Given the description of an element on the screen output the (x, y) to click on. 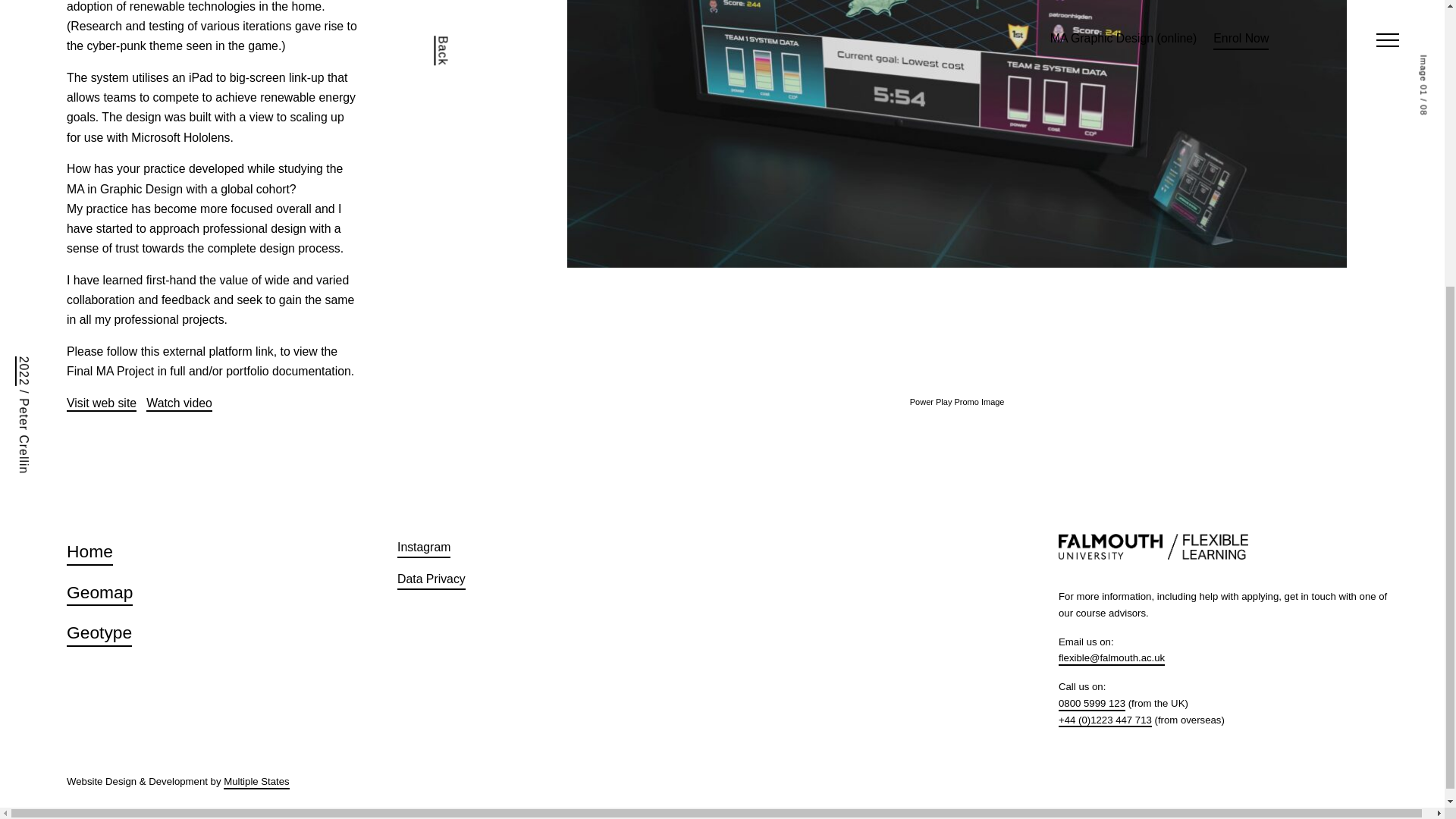
Geotype (99, 634)
Data Privacy (431, 580)
Geomap (99, 594)
0800 5999 123 (1091, 704)
Multiple States (256, 782)
Instagram (423, 548)
Watch video (179, 403)
Visit web site (101, 403)
Home (89, 553)
